Given the description of an element on the screen output the (x, y) to click on. 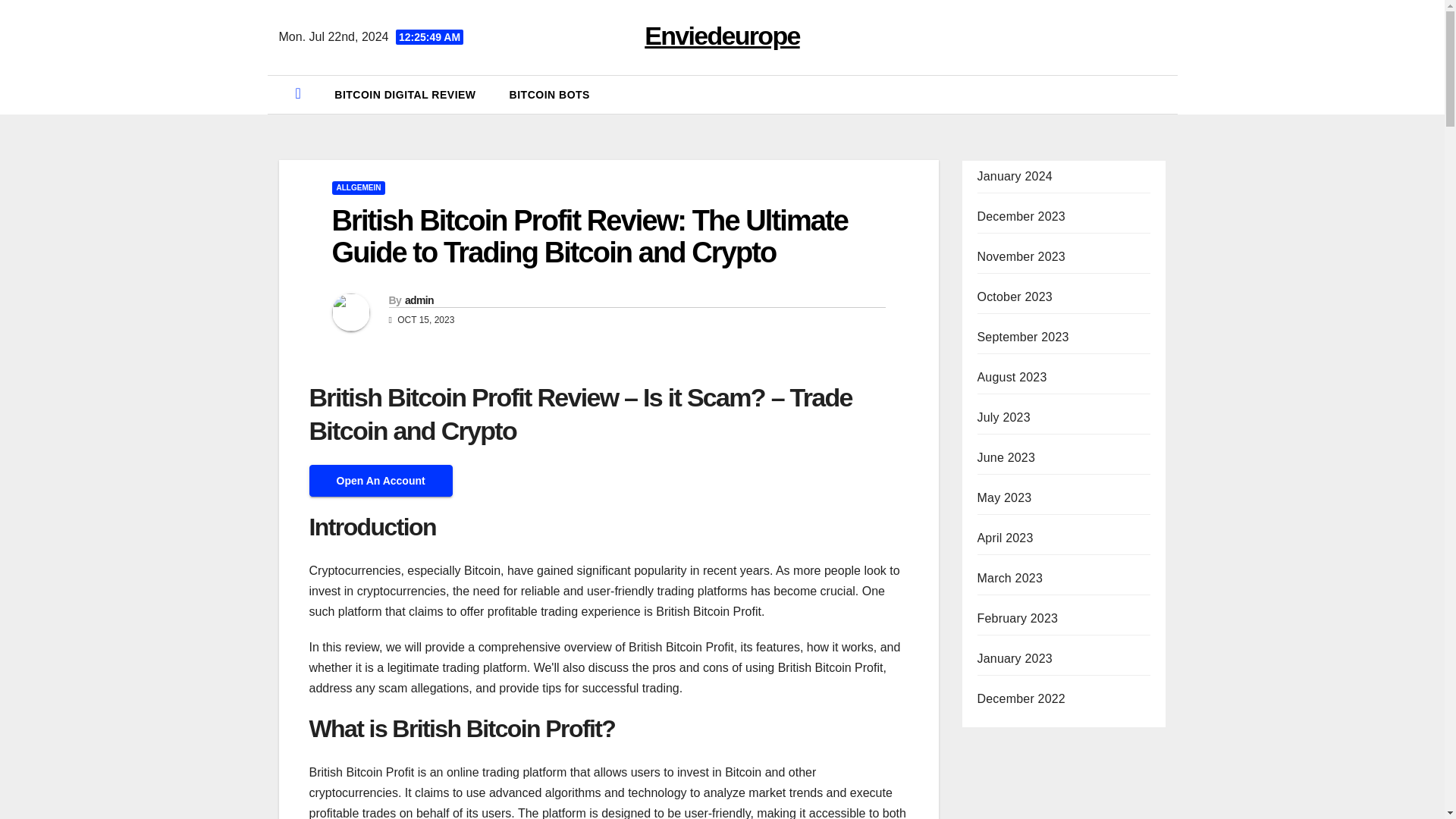
ALLGEMEIN (358, 187)
Enviedeurope (722, 35)
Open An Account (380, 480)
Bitcoin Bots (550, 94)
Bitcoin Digital Review (404, 94)
admin (418, 300)
Open An Account (380, 480)
BITCOIN BOTS (550, 94)
BITCOIN DIGITAL REVIEW (404, 94)
